Given the description of an element on the screen output the (x, y) to click on. 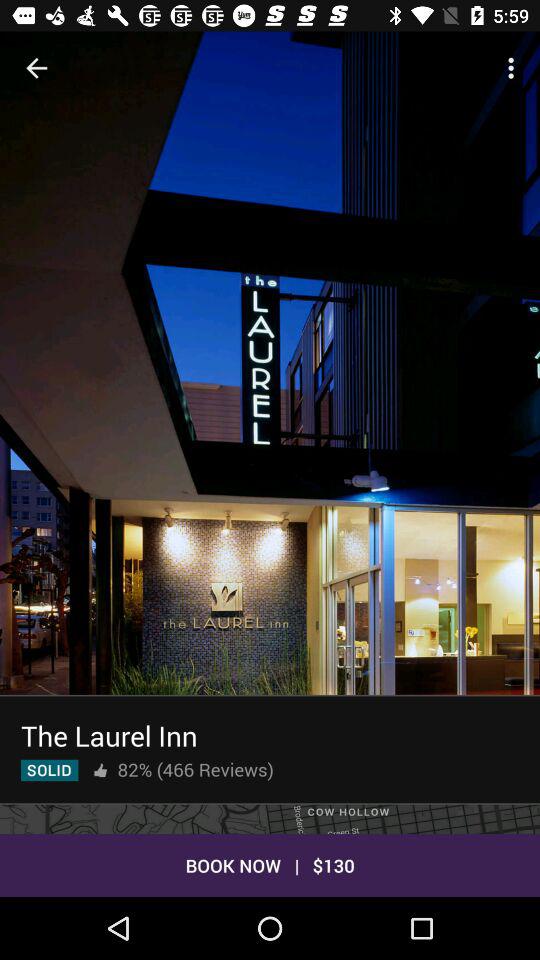
click the the laurel inn icon (109, 735)
